Given the description of an element on the screen output the (x, y) to click on. 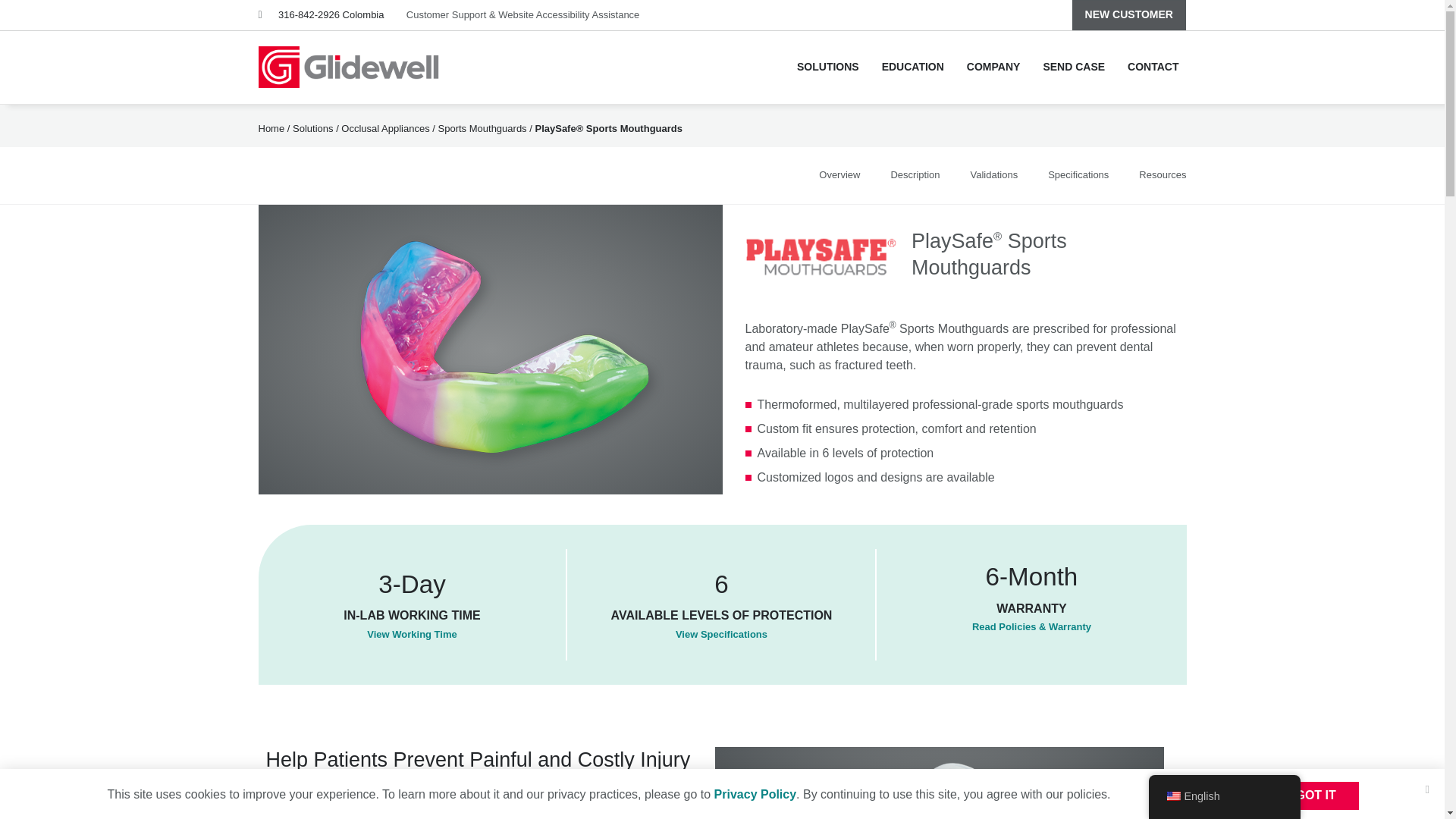
NEW CUSTOMER (1128, 15)
316-842-2926 Colombia (331, 14)
